Given the description of an element on the screen output the (x, y) to click on. 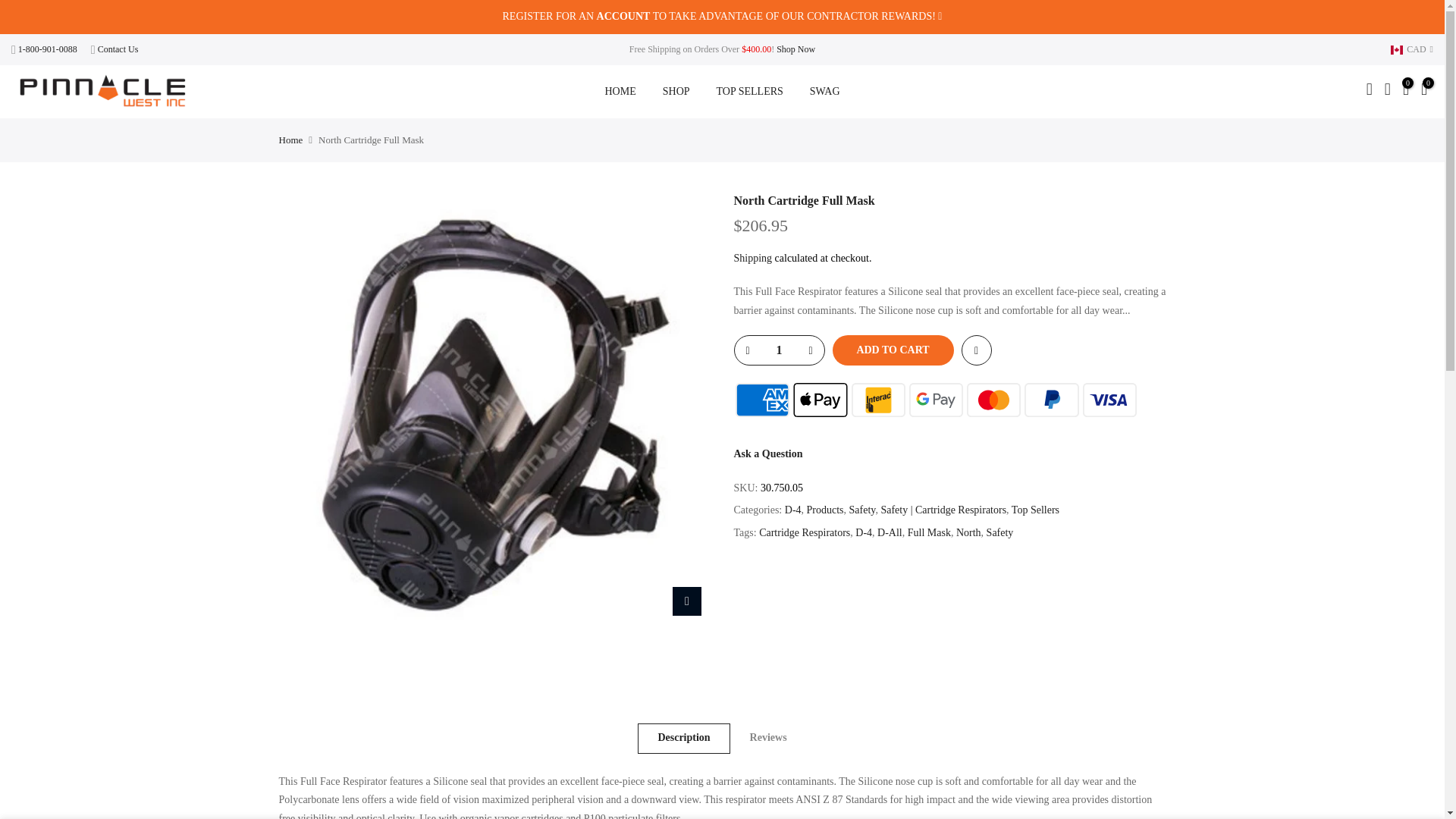
SHOP (676, 91)
1-800-901-0088 (47, 49)
HOME (620, 91)
1 (778, 349)
Contact Us (117, 49)
Shop Now (795, 49)
